Given the description of an element on the screen output the (x, y) to click on. 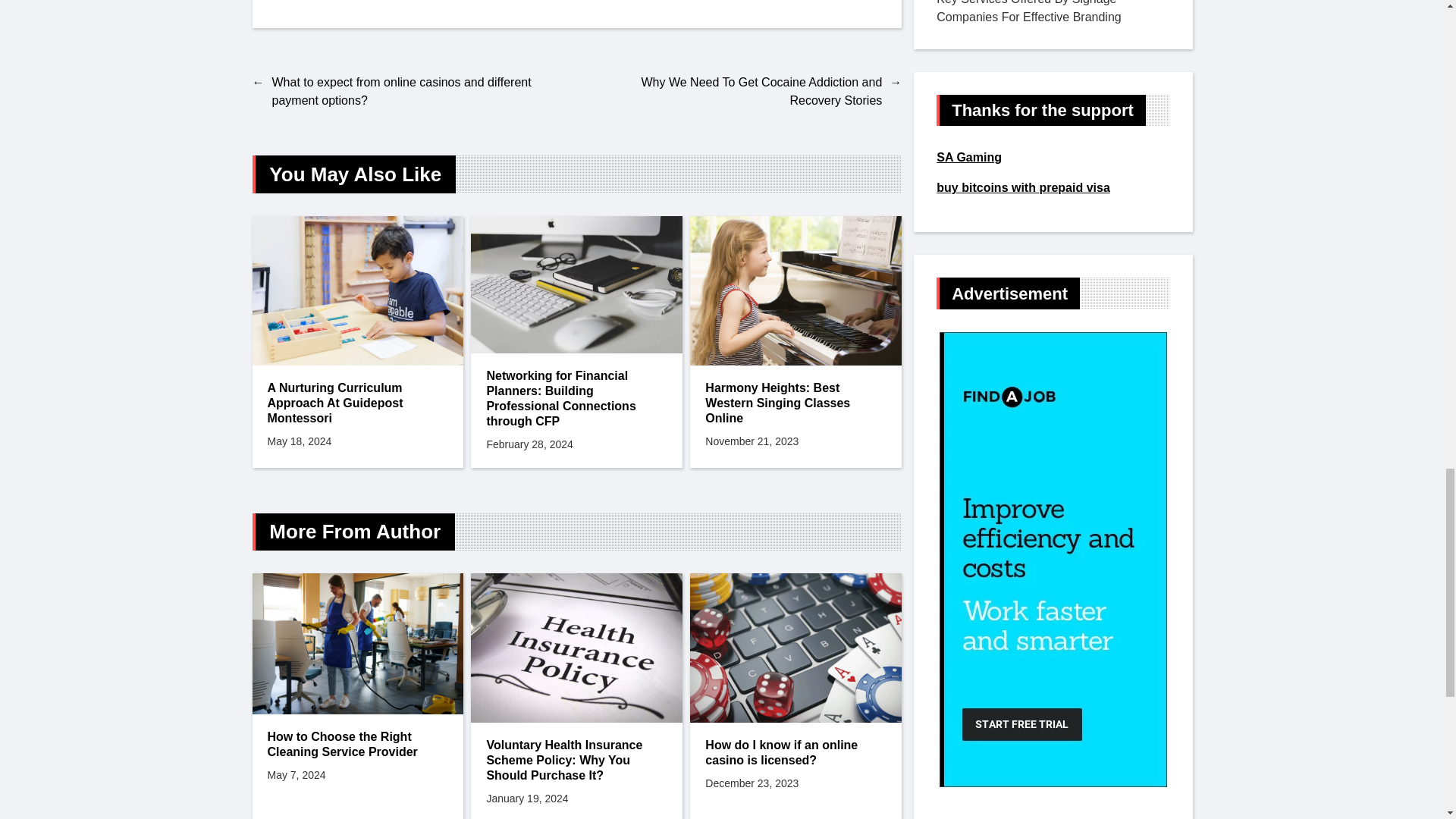
How do I know if an online casino is licensed? (795, 752)
Harmony Heights: Best Western Singing Classes Online (795, 402)
How to Choose the Right Cleaning Service Provider (357, 744)
Frau Hanna Sommer (318, 2)
A Nurturing Curriculum Approach At Guidepost Montessori (357, 402)
